Given the description of an element on the screen output the (x, y) to click on. 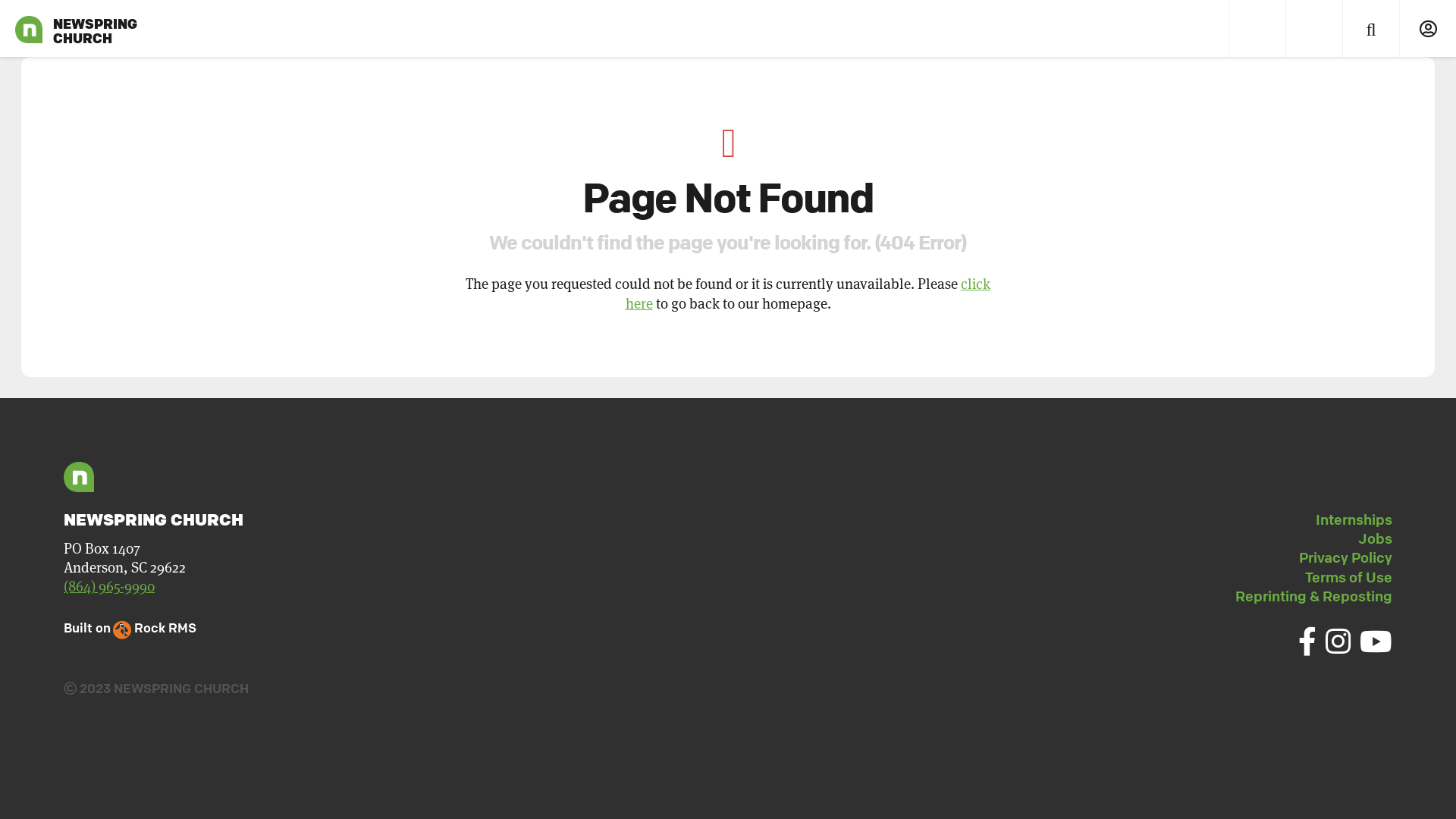
NEWSPRING CHURCH Element type: text (28, 28)
Search Element type: hover (1370, 28)
Privacy Policy Element type: text (1345, 557)
(864) 965-9990 Element type: text (108, 586)
Terms of Use Element type: text (1348, 576)
Locations Element type: hover (1313, 28)
Reprinting & Reposting Element type: text (1313, 595)
Internships Element type: text (1353, 519)
Menu Element type: hover (1256, 28)
click here Element type: text (807, 293)
Jobs Element type: text (1375, 538)
Built on
Rock RMS Element type: text (129, 627)
